Given the description of an element on the screen output the (x, y) to click on. 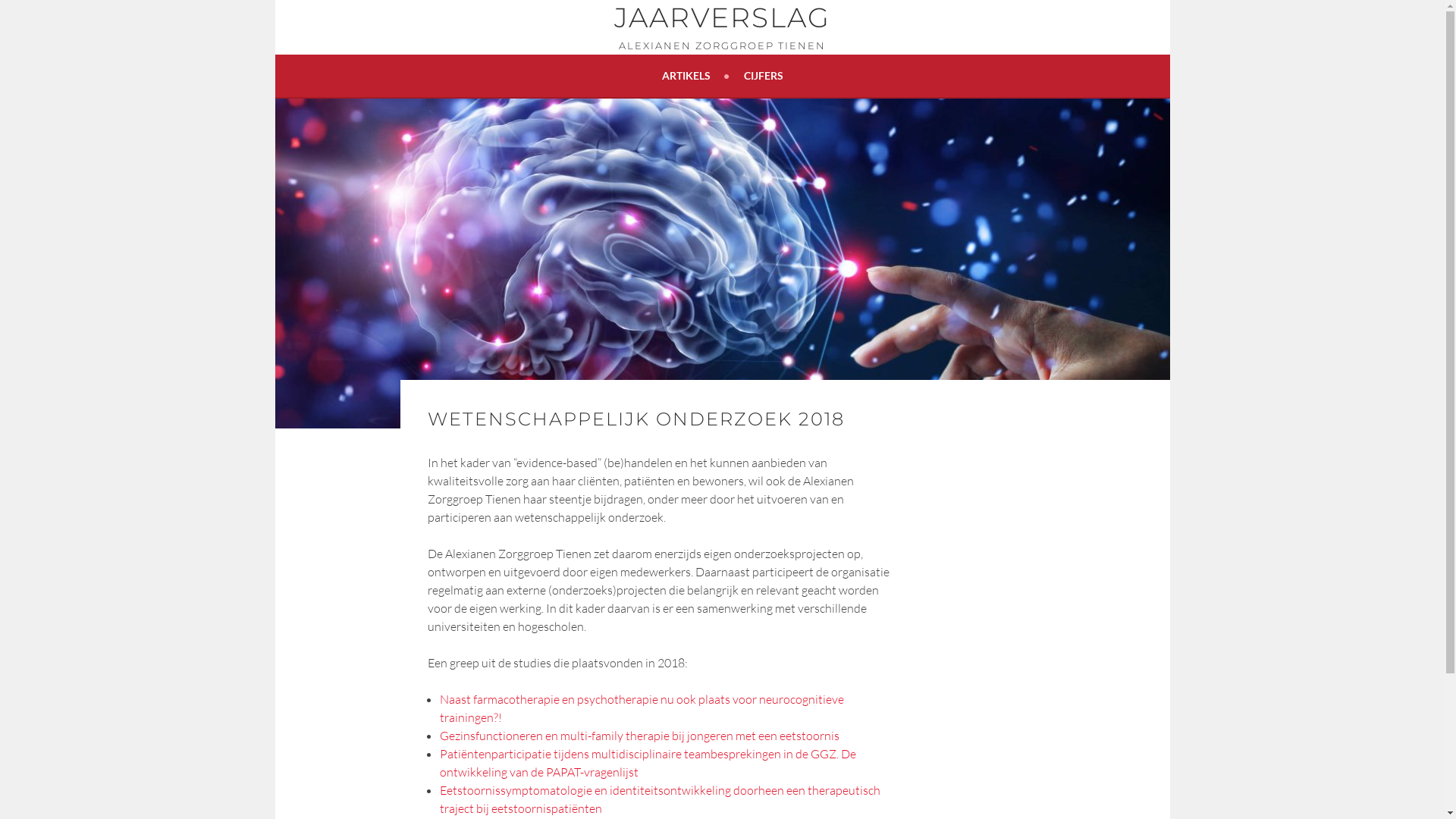
JAARVERSLAG Element type: text (722, 17)
CIJFERS Element type: text (762, 75)
ARTIKELS Element type: text (694, 75)
